Given the description of an element on the screen output the (x, y) to click on. 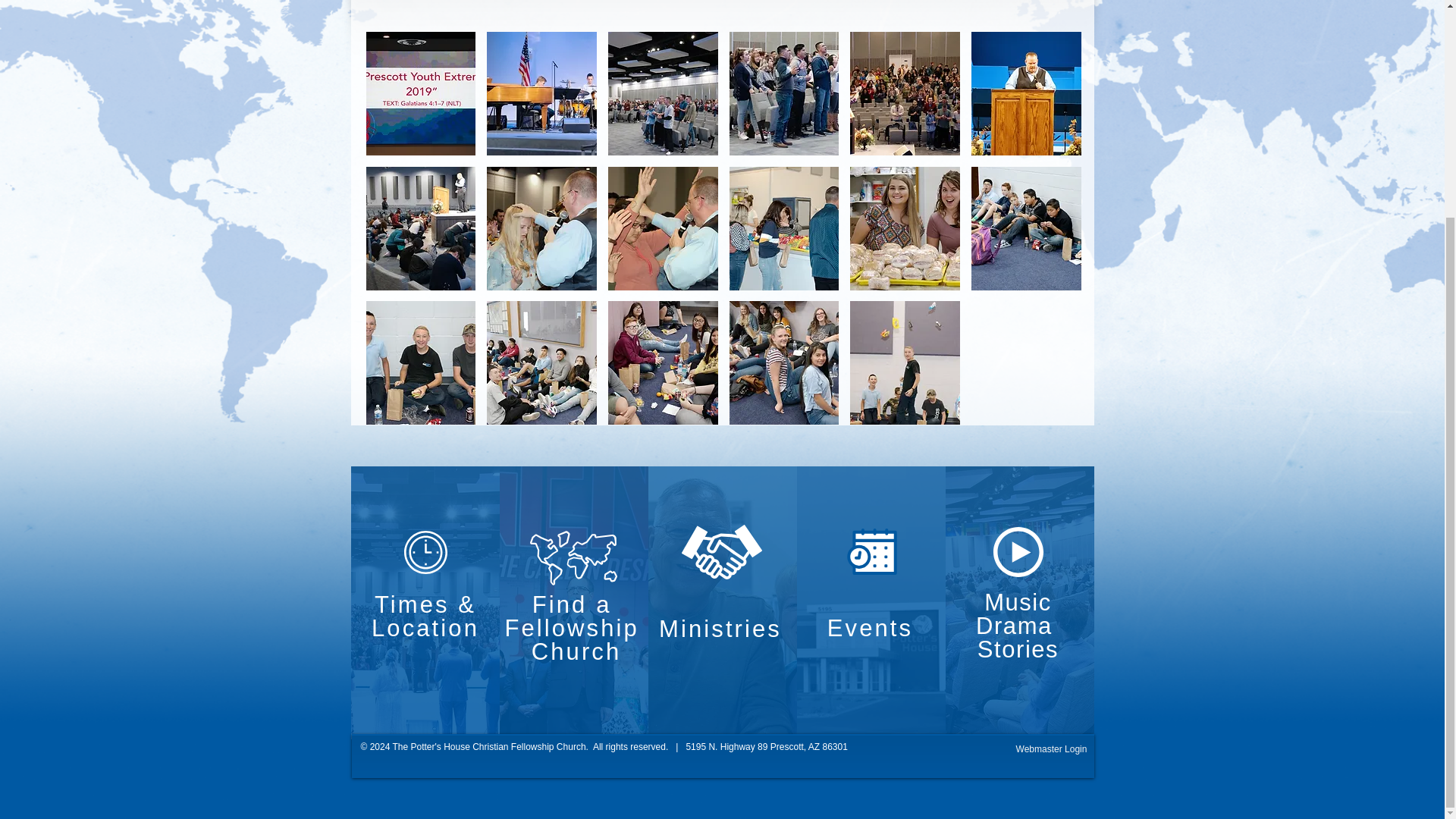
Webmaster Login (1051, 749)
